Given the description of an element on the screen output the (x, y) to click on. 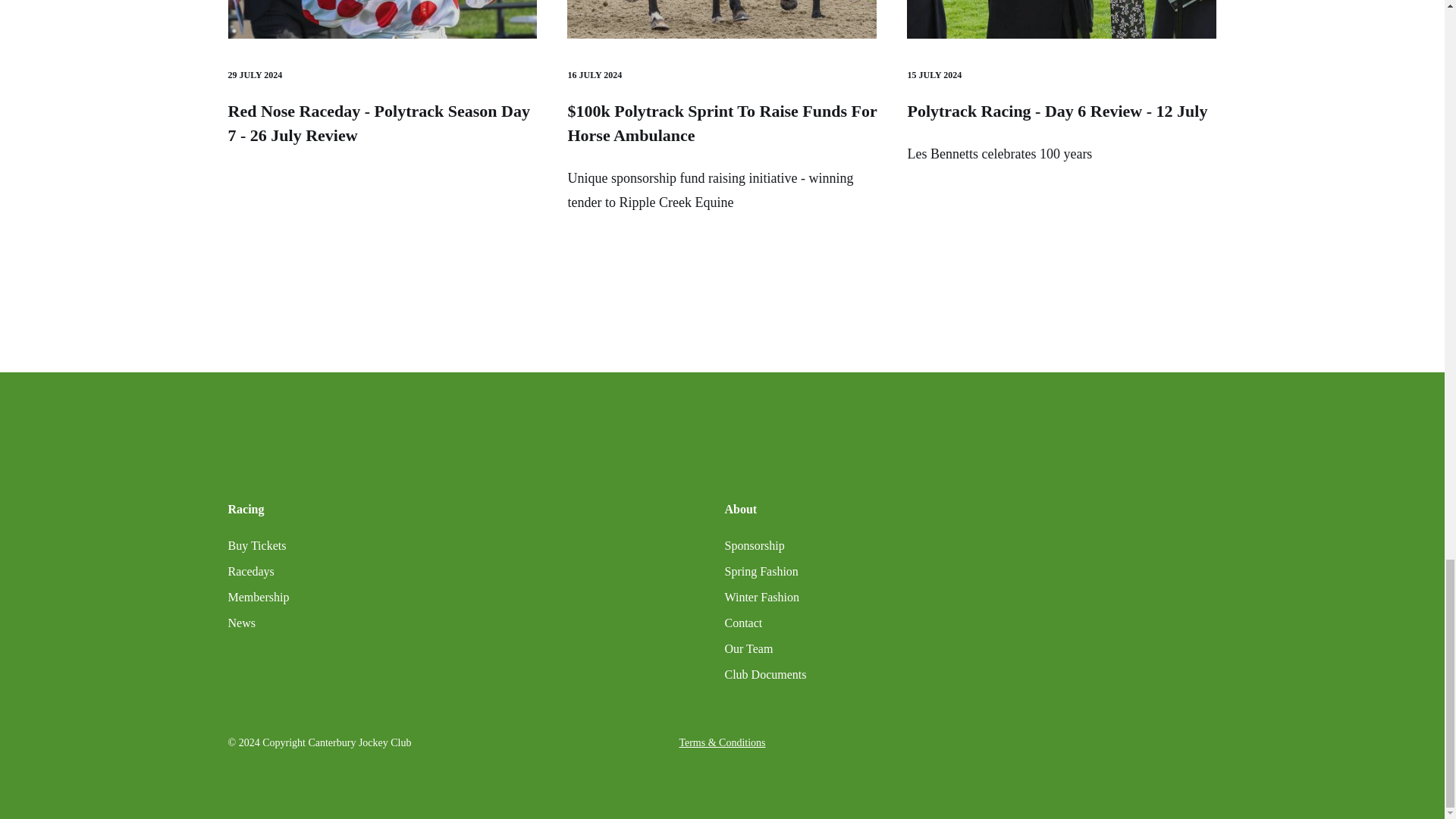
Racedays (250, 571)
Buy Tickets (256, 546)
RACING (382, 19)
Membership (257, 597)
Polytrack Racing - Day 6 Review - 12 July (1057, 110)
News (240, 623)
Instagram (1066, 744)
RACING (1061, 19)
RACING (721, 19)
Red Nose Raceday - Polytrack Season Day 7 - 26 July Review (378, 122)
Facebook (1036, 744)
